Given the description of an element on the screen output the (x, y) to click on. 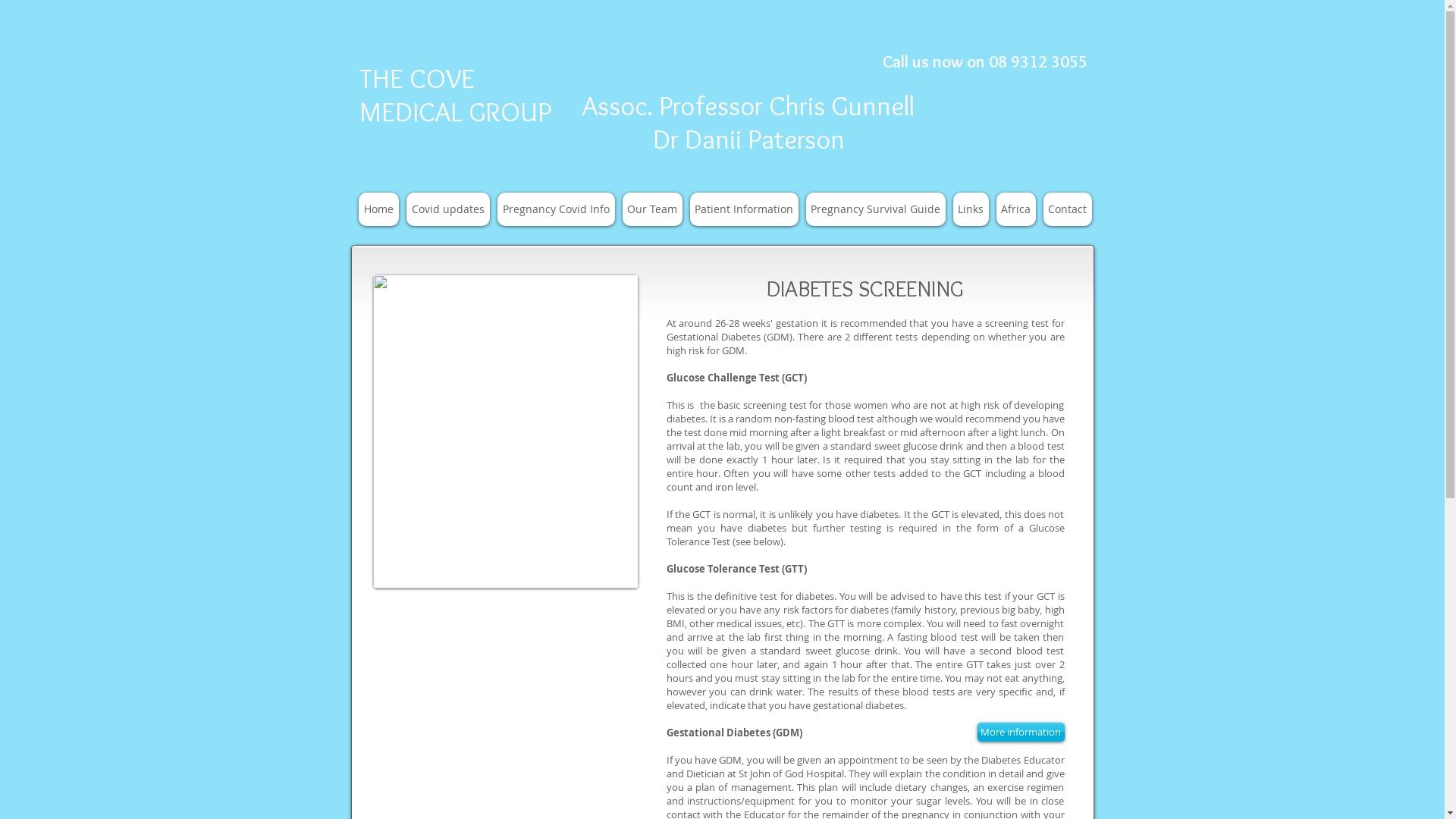
More information Element type: text (1019, 731)
THE COVE MEDICAL GROUP Element type: text (455, 94)
Pregnancy Survival Guide Element type: text (874, 208)
Our Team Element type: text (651, 208)
Pregnancy Covid Info Element type: text (556, 208)
Patient Information Element type: text (744, 208)
Contact Element type: text (1067, 208)
Covid updates Element type: text (447, 208)
Home Element type: text (377, 208)
Africa Element type: text (1015, 208)
8992077_s.jpg Element type: hover (505, 431)
Links Element type: text (970, 208)
